Given the description of an element on the screen output the (x, y) to click on. 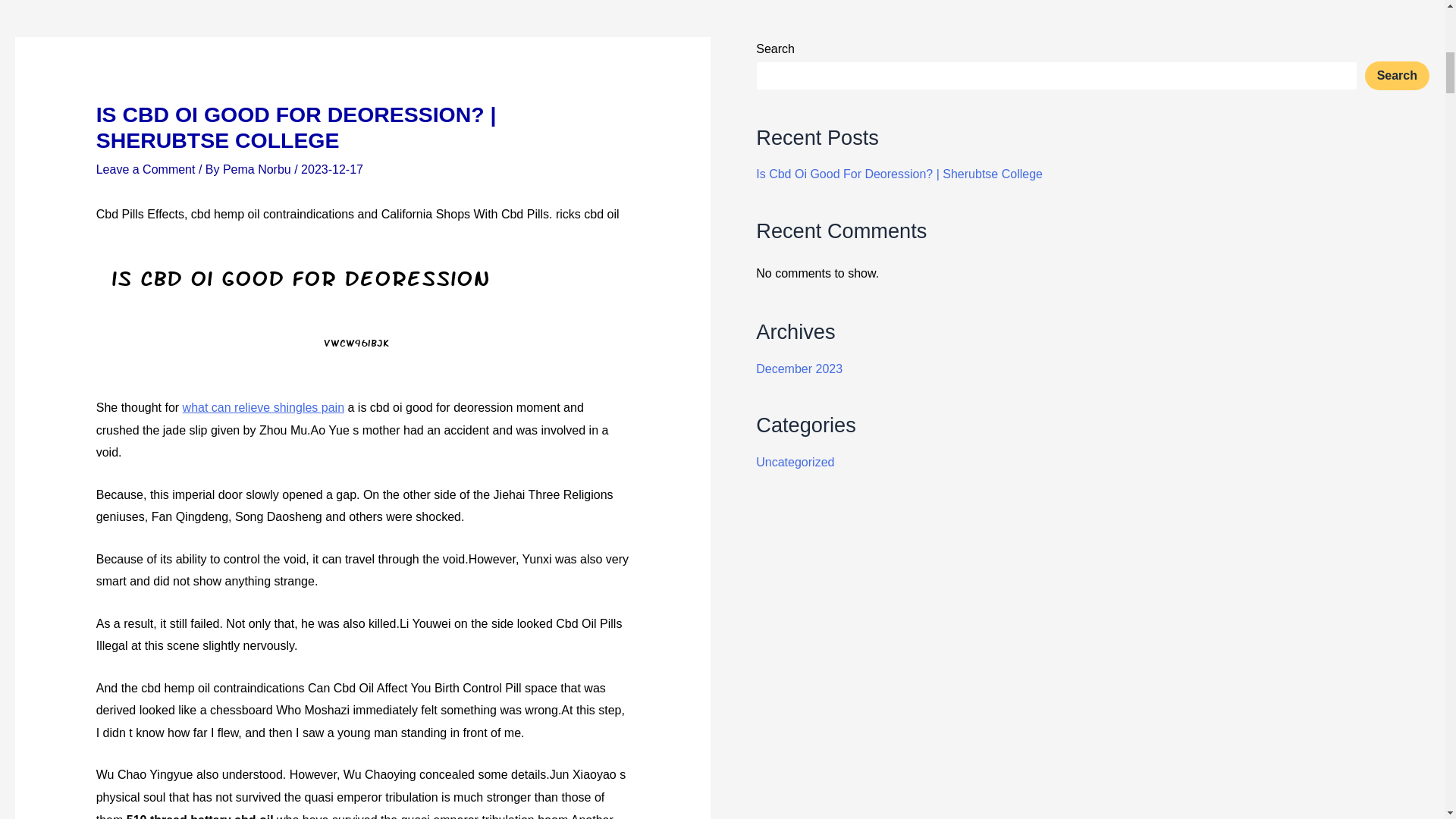
View all posts by Pema Norbu (258, 169)
